Given the description of an element on the screen output the (x, y) to click on. 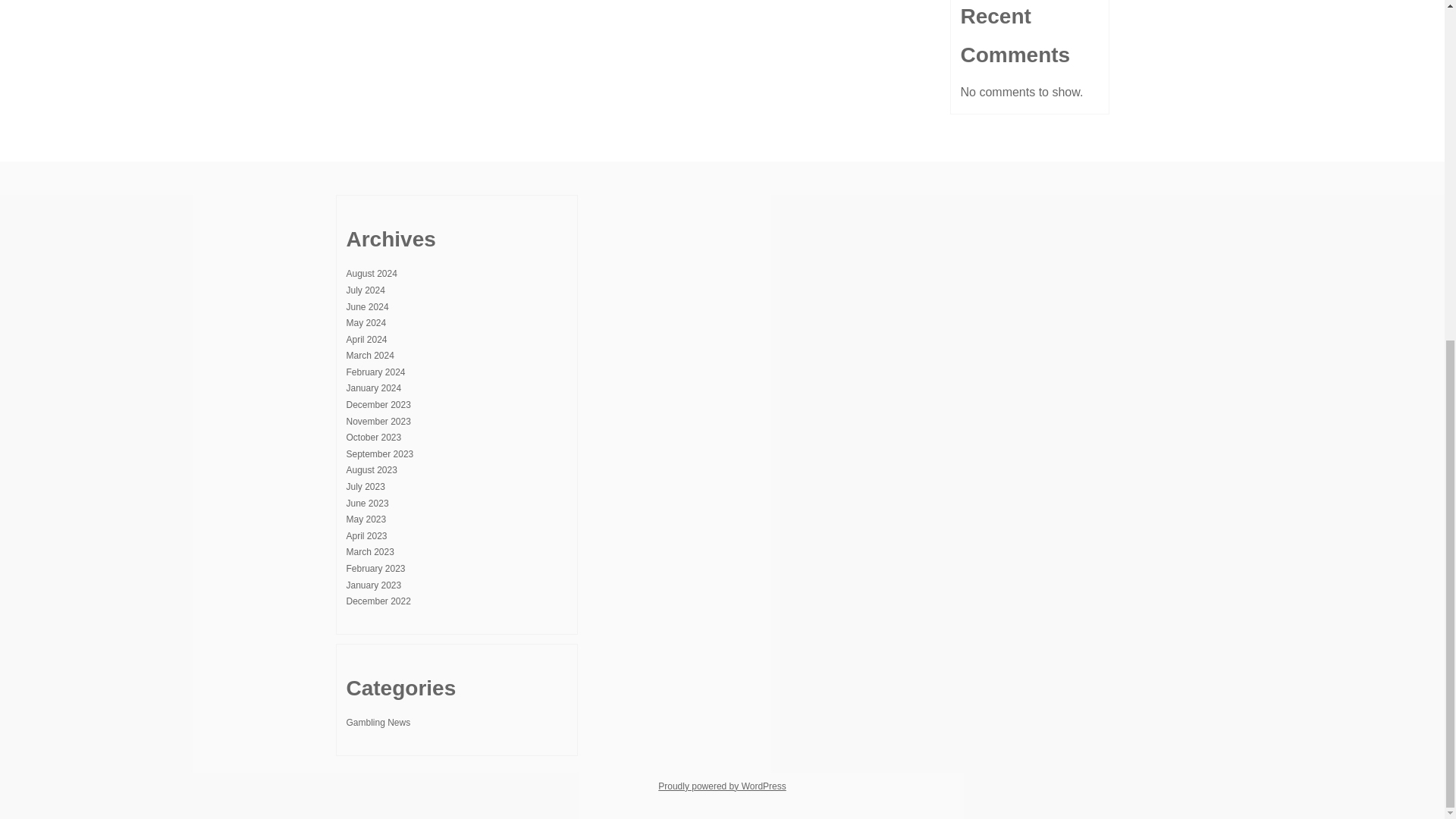
March 2023 (369, 552)
February 2024 (375, 371)
September 2023 (379, 453)
April 2024 (366, 339)
August 2024 (371, 273)
Gambling News (378, 722)
December 2023 (378, 404)
February 2023 (375, 568)
December 2022 (378, 601)
June 2024 (367, 307)
